Given the description of an element on the screen output the (x, y) to click on. 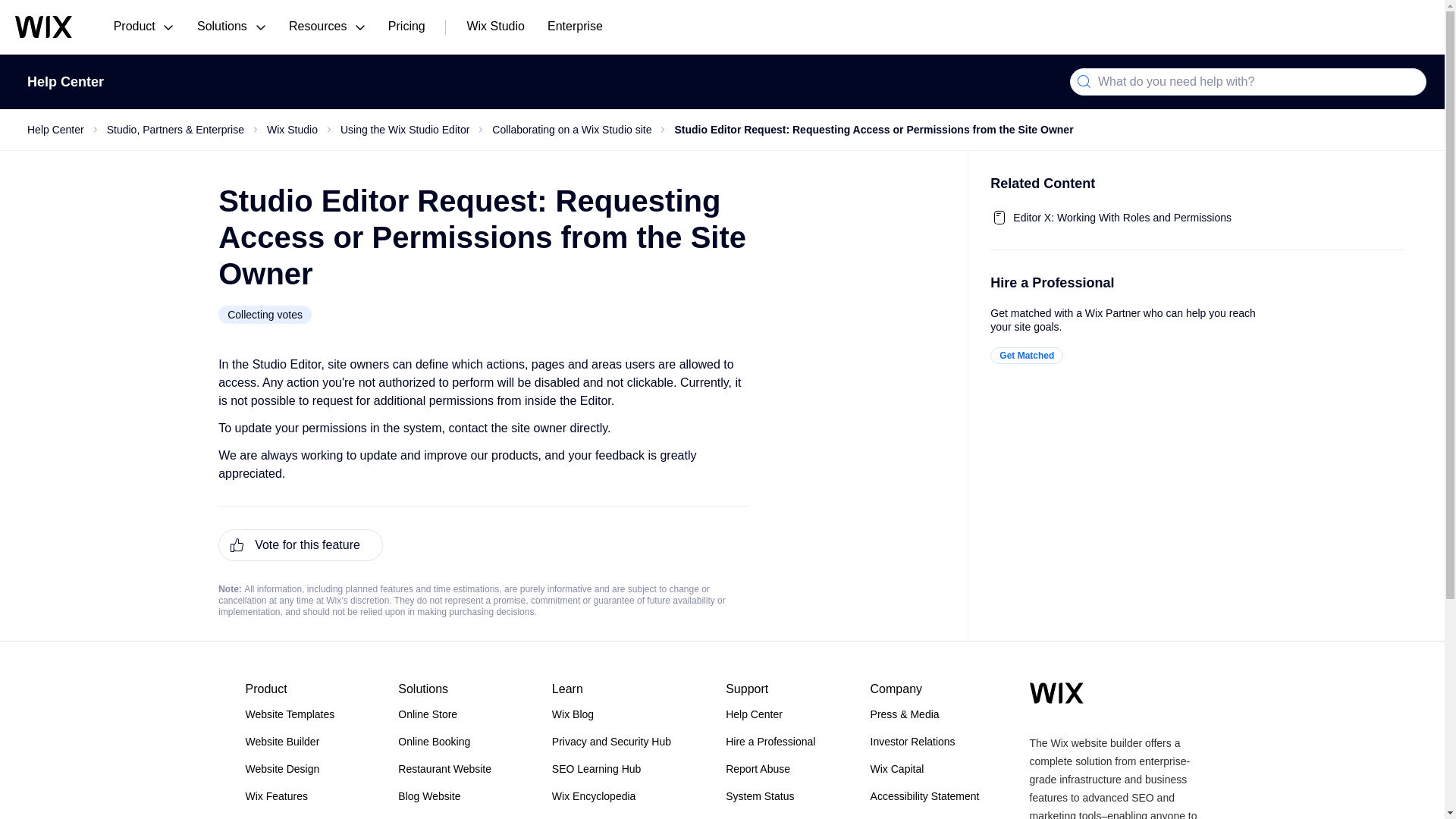
Product (142, 27)
Resources (327, 27)
Enterprise (574, 27)
Wix Studio (494, 27)
Wix.com (1056, 692)
Solutions (231, 27)
Help Center (65, 81)
Pricing (406, 27)
Wix (42, 26)
